Given the description of an element on the screen output the (x, y) to click on. 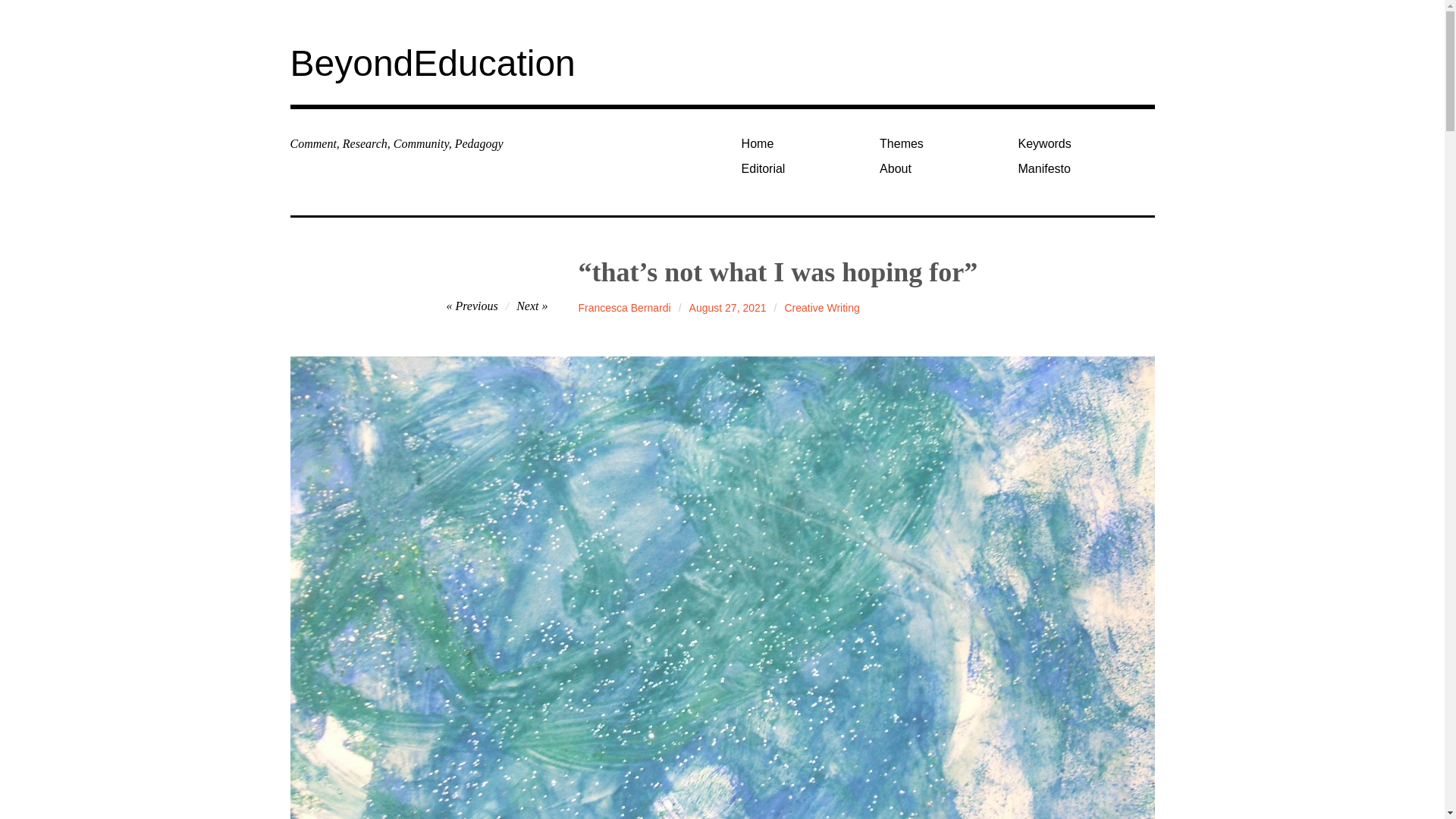
Keywords (1080, 143)
Next (531, 305)
Home (804, 143)
Themes (942, 143)
BeyondEducation (432, 63)
Editorial (804, 168)
August 27, 2021 (727, 307)
Creative Writing (821, 307)
Francesca Bernardi (624, 307)
About (942, 168)
Manifesto (1080, 168)
Previous (471, 305)
